Given the description of an element on the screen output the (x, y) to click on. 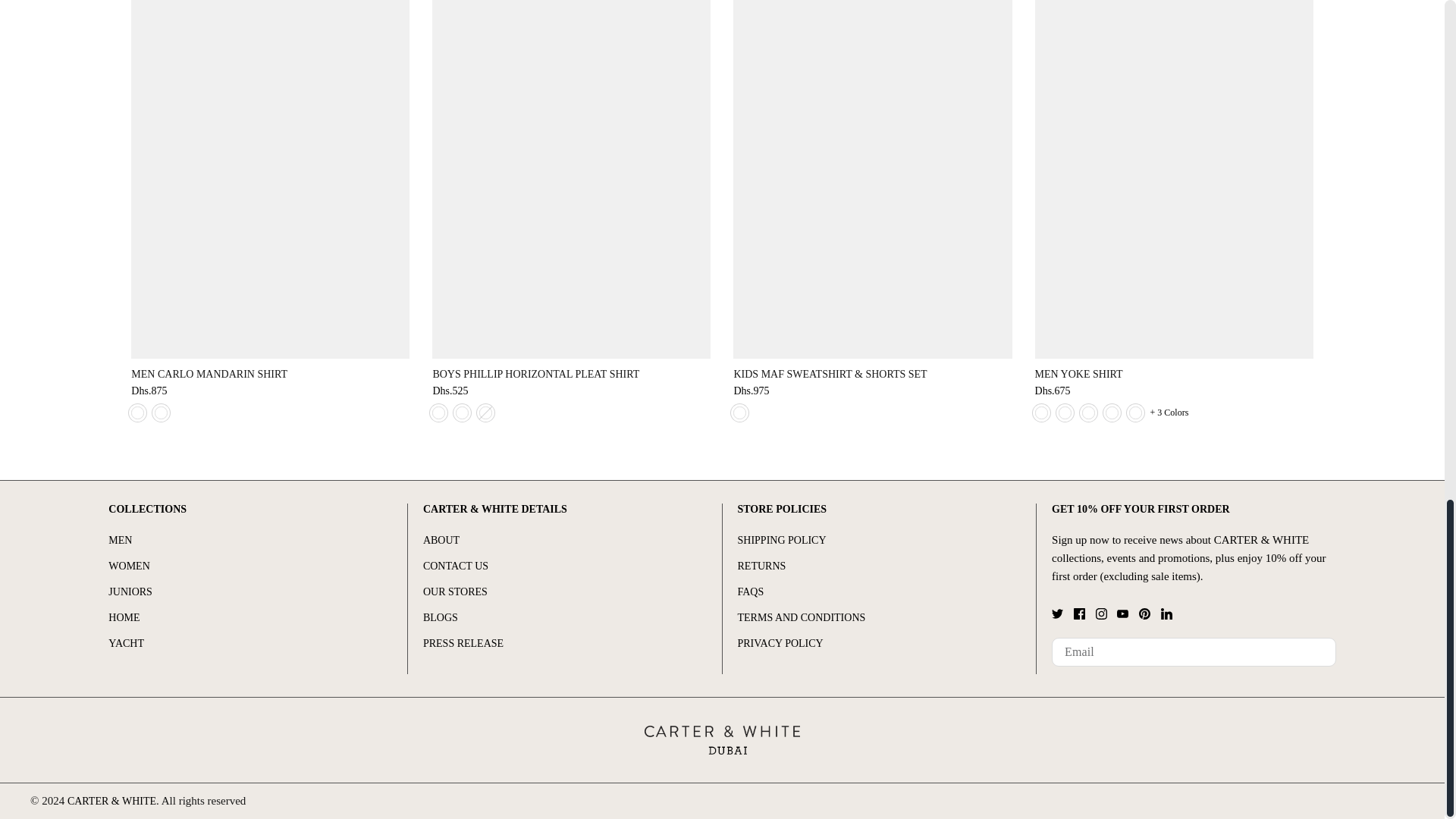
INSTAGRAM (1101, 613)
PINTEREST (1144, 613)
FACEBOOK (1079, 613)
YOUTUBE (1122, 613)
TWITTER (1056, 613)
